Given the description of an element on the screen output the (x, y) to click on. 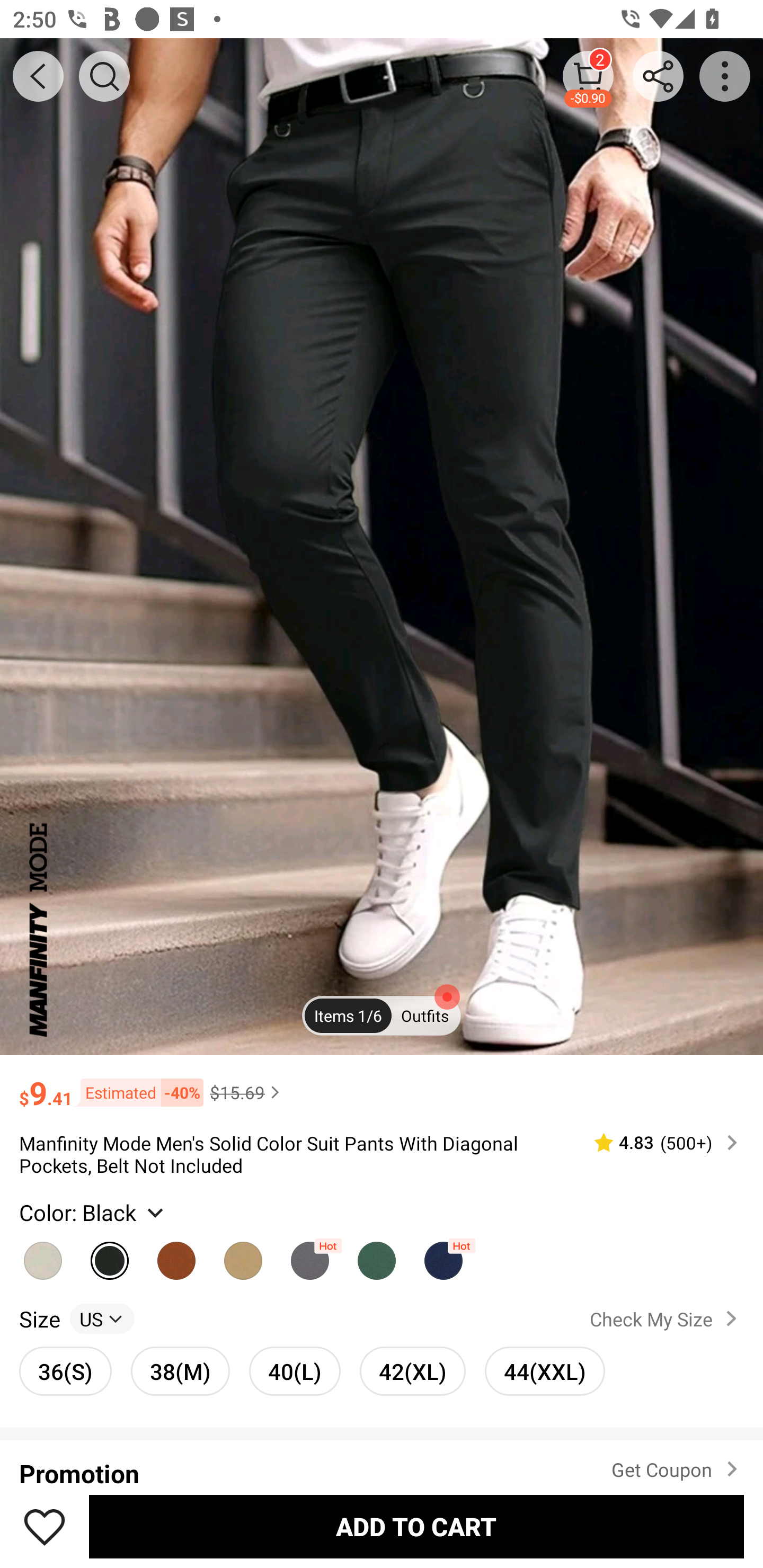
BACK (38, 75)
2 -$0.90 (588, 75)
Items 1/6 (347, 1015)
Outfits (424, 1015)
$9.41 Estimated -40% $15.69 (381, 1084)
Estimated -40% (137, 1092)
$15.69 (246, 1091)
4.83 (500‎+) (658, 1142)
Color: Black (93, 1212)
Beige (42, 1255)
Black (109, 1255)
Bronze (176, 1255)
Khaki (242, 1255)
Dark Grey (309, 1255)
Dark Green (376, 1255)
Navy Blue (443, 1255)
Size (39, 1318)
US (102, 1318)
Check My Size (666, 1318)
36(S) 36(S)unselected option (65, 1370)
38(M) 38(M)unselected option (180, 1370)
40(L) 40(L)unselected option (294, 1370)
42(XL) 42(XL)unselected option (412, 1370)
44(XXL) 44(XXL)unselected option (544, 1370)
Promotion Get Coupon (381, 1462)
ADD TO CART (416, 1526)
Save (44, 1526)
